Given the description of an element on the screen output the (x, y) to click on. 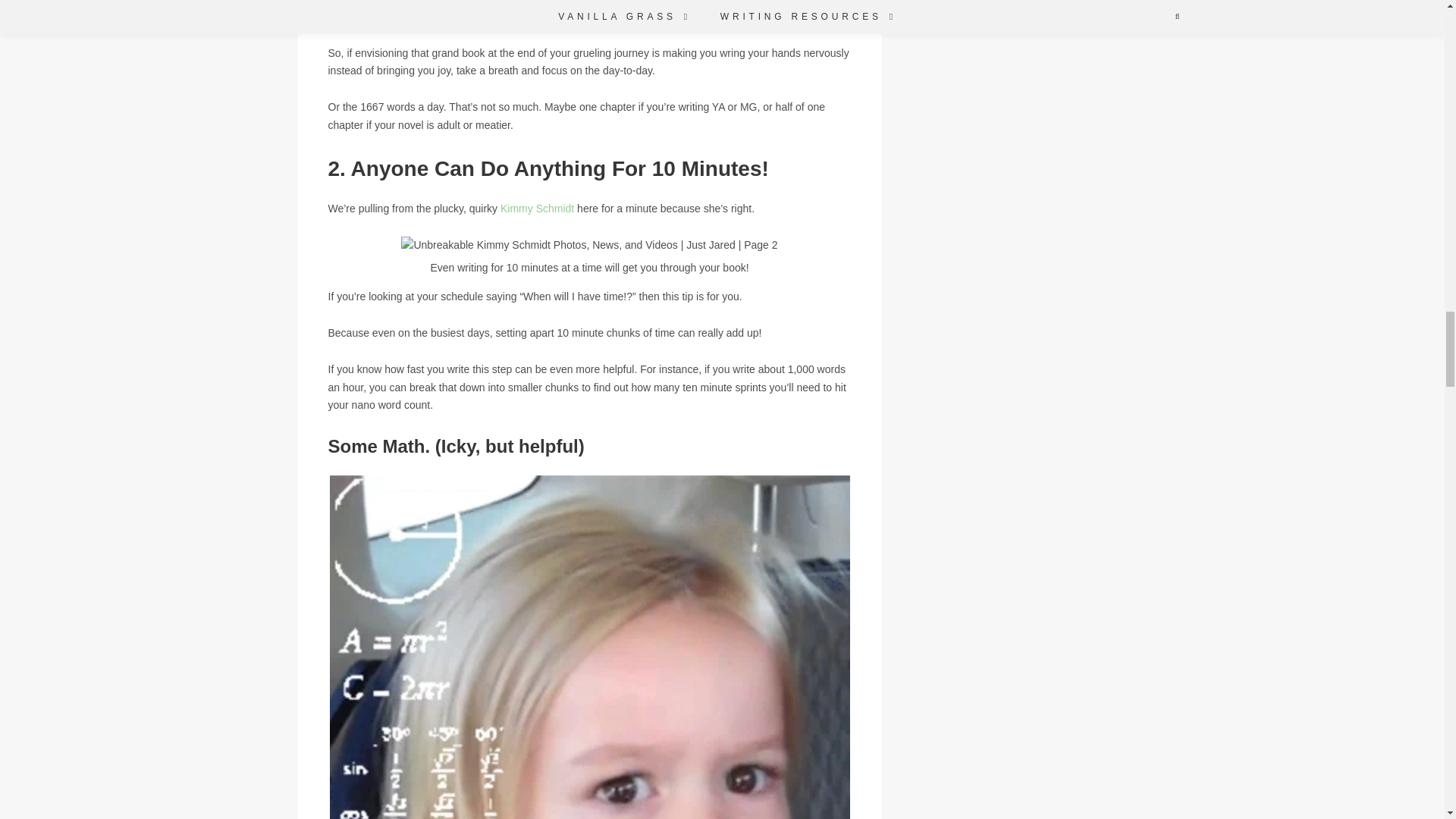
Kimmy Schmidt (536, 208)
